Given the description of an element on the screen output the (x, y) to click on. 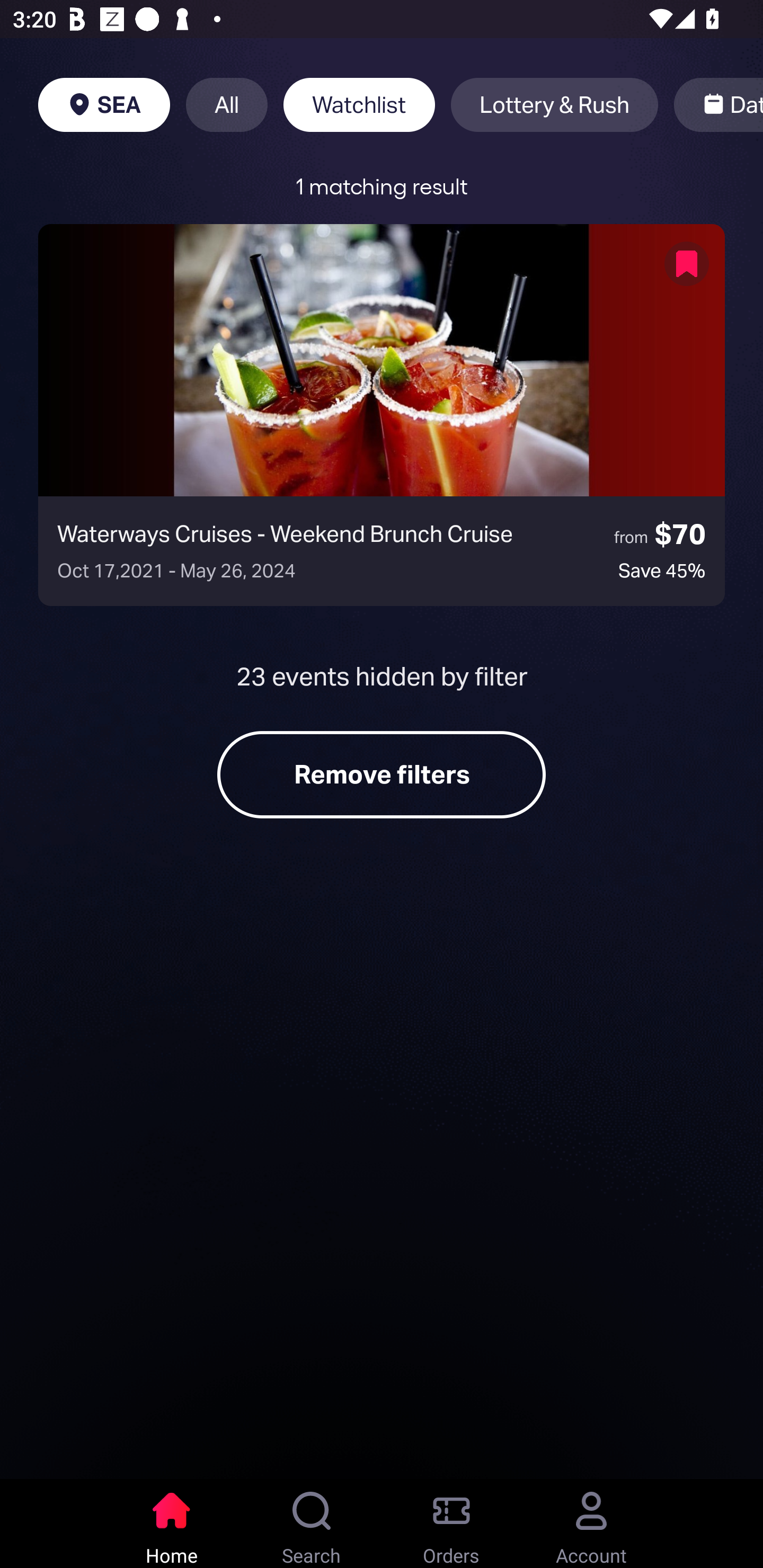
SEA (104, 104)
All (226, 104)
Watchlist (358, 104)
Lottery & Rush (553, 104)
Remove filters (381, 774)
Search (311, 1523)
Orders (451, 1523)
Account (591, 1523)
